Given the description of an element on the screen output the (x, y) to click on. 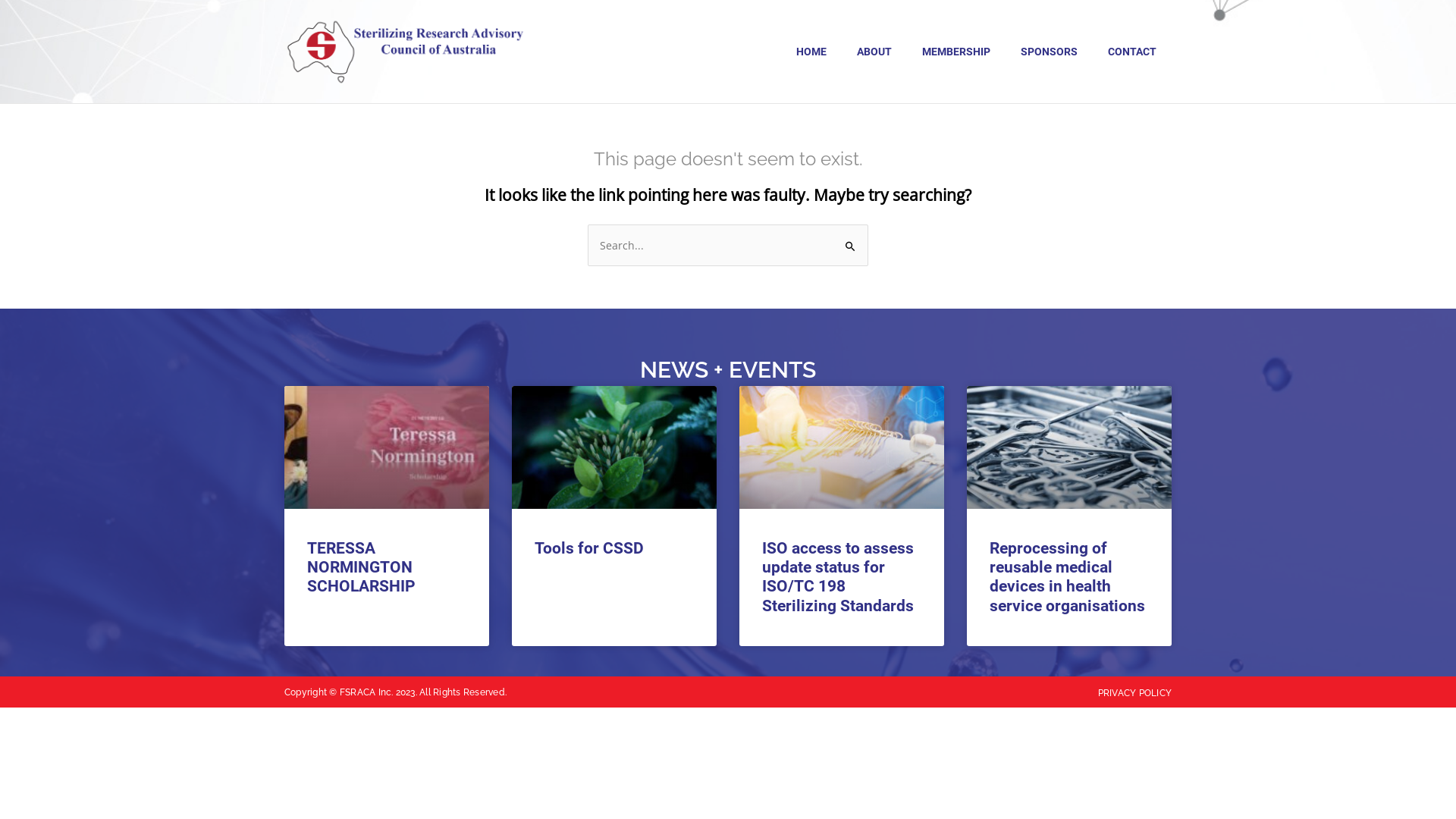
Tools for CSSD Element type: text (588, 548)
PRIVACY POLICY Element type: text (1134, 692)
TERESSA NORMINGTON SCHOLARSHIP Element type: text (361, 567)
ABOUT Element type: text (873, 51)
CONTACT Element type: text (1131, 51)
Search Element type: text (851, 239)
HOME Element type: text (811, 51)
SPONSORS Element type: text (1048, 51)
MEMBERSHIP Element type: text (955, 51)
